Given the description of an element on the screen output the (x, y) to click on. 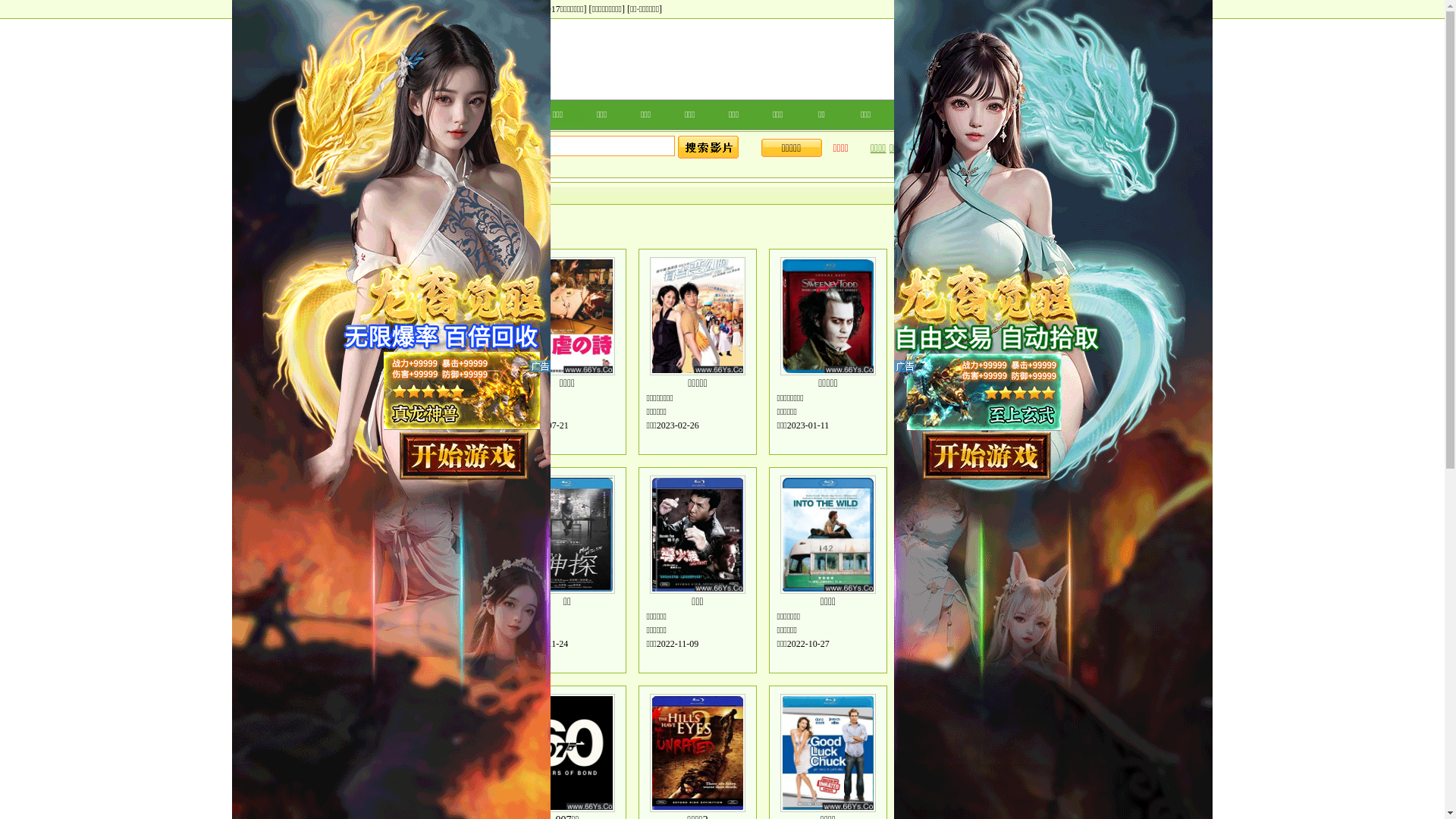
5 Element type: text (429, 227)
6 Element type: text (446, 227)
3 Element type: text (396, 227)
4 Element type: text (413, 227)
 102 Element type: text (504, 224)
2 Element type: text (379, 227)
